Given the description of an element on the screen output the (x, y) to click on. 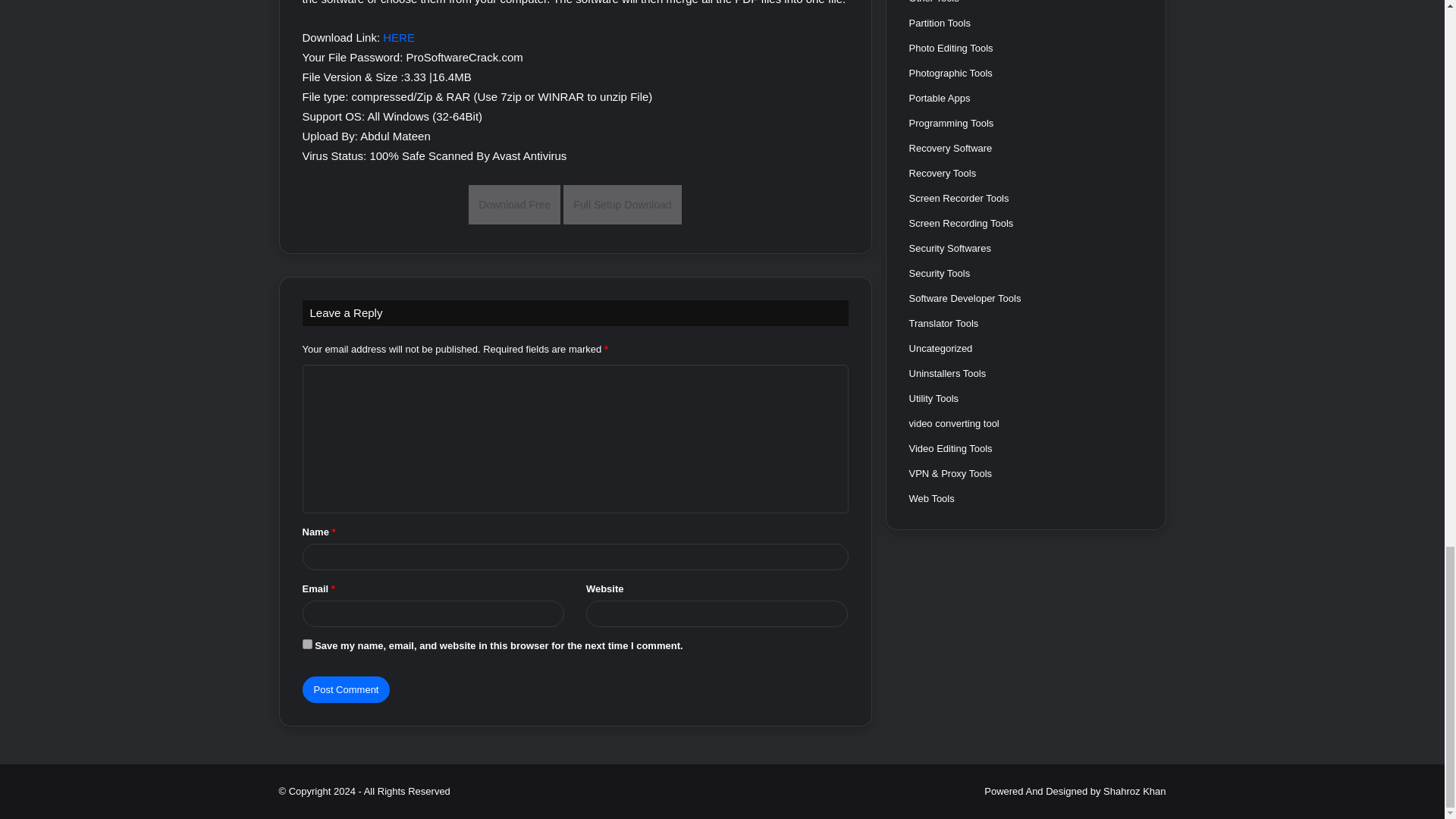
Download Free (514, 204)
Full Setup Download (622, 204)
HERE (398, 37)
Download Free Full Setup Download (574, 204)
Post Comment (345, 689)
yes (306, 644)
Post Comment (345, 689)
